Given the description of an element on the screen output the (x, y) to click on. 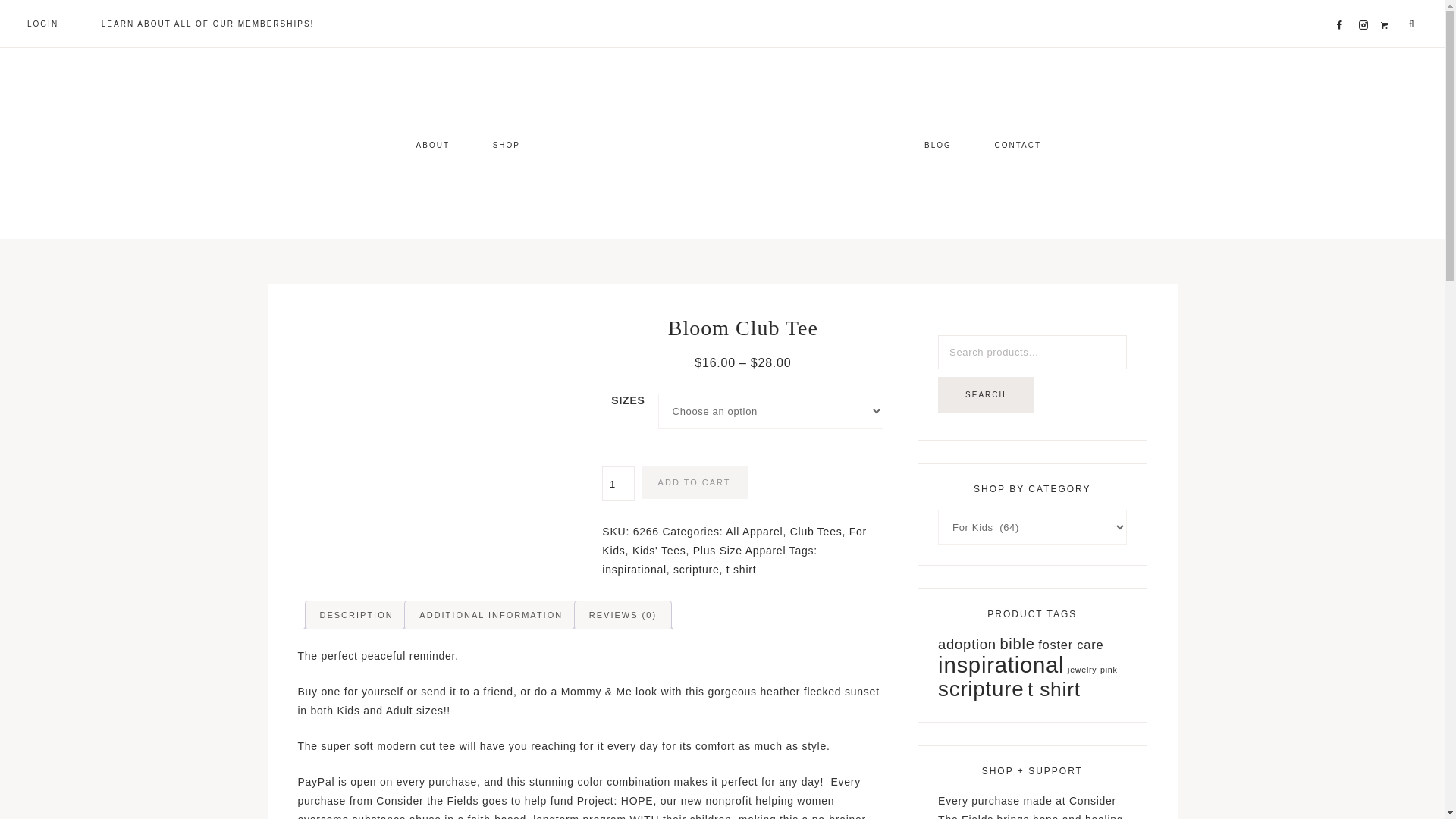
Consider The Fields (721, 143)
Facebook (1343, 6)
DESCRIPTION (355, 614)
SHOP (506, 144)
Shop (1387, 6)
Club Tees (816, 531)
SEARCH (985, 394)
LEARN ABOUT ALL OF OUR MEMBERSHIPS! (207, 22)
CONTACT (1017, 144)
1 (617, 483)
